Given the description of an element on the screen output the (x, y) to click on. 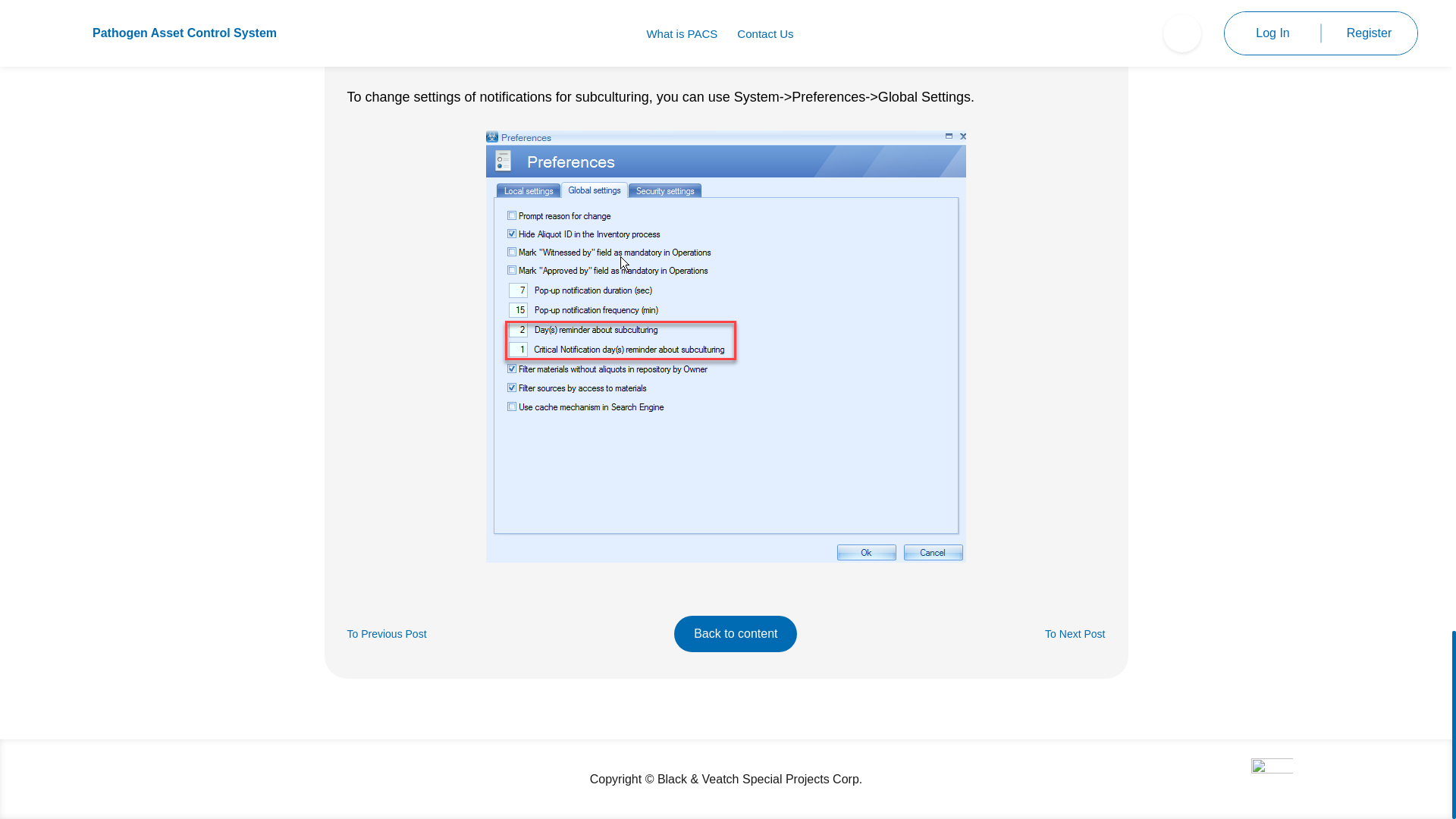
Back to content (735, 633)
To Next Post (1075, 633)
To Previous Post (386, 633)
